Given the description of an element on the screen output the (x, y) to click on. 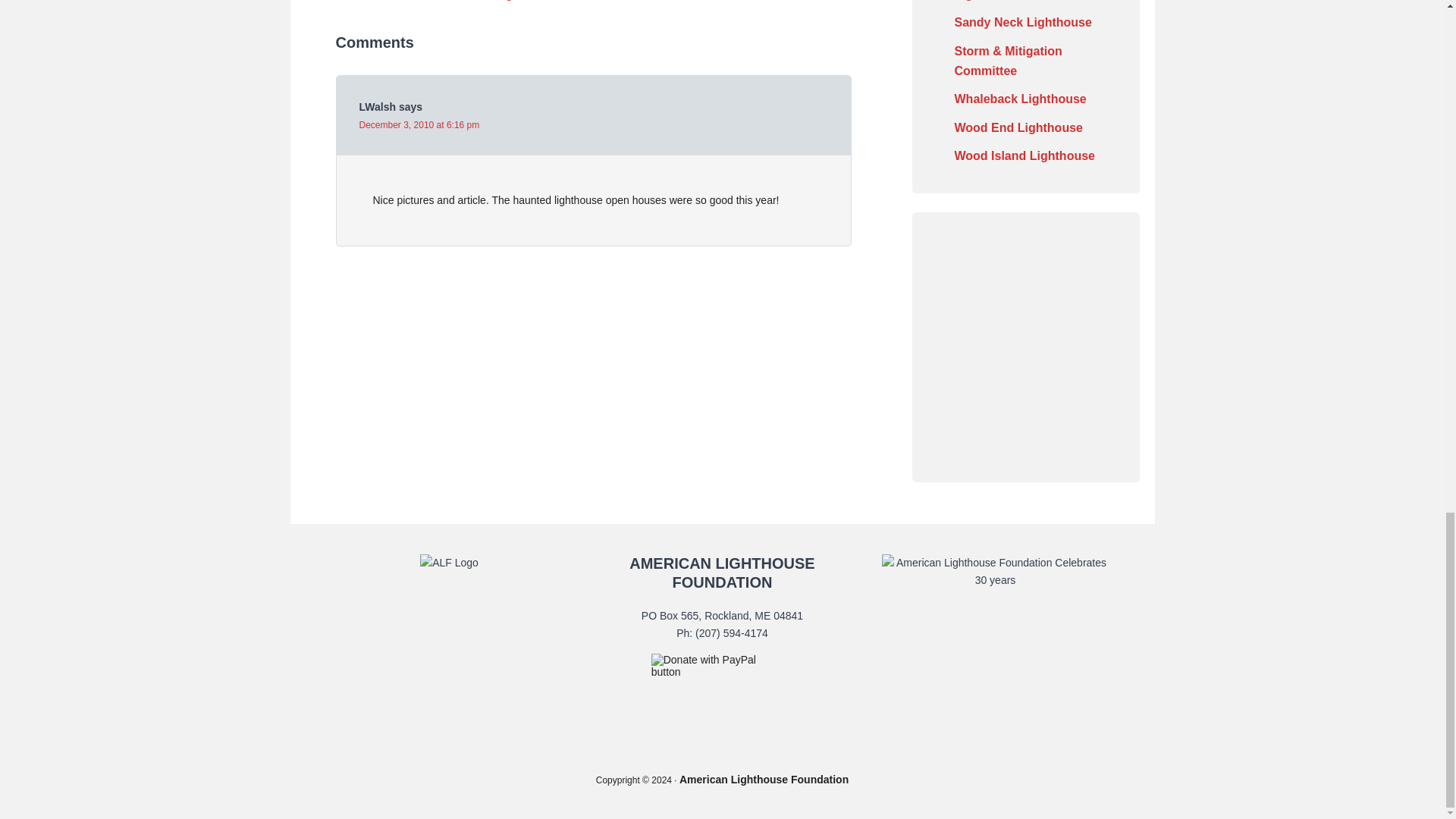
PayPal - The safer, easier way to pay online! (718, 665)
December 3, 2010 at 6:16 pm (419, 124)
